Given the description of an element on the screen output the (x, y) to click on. 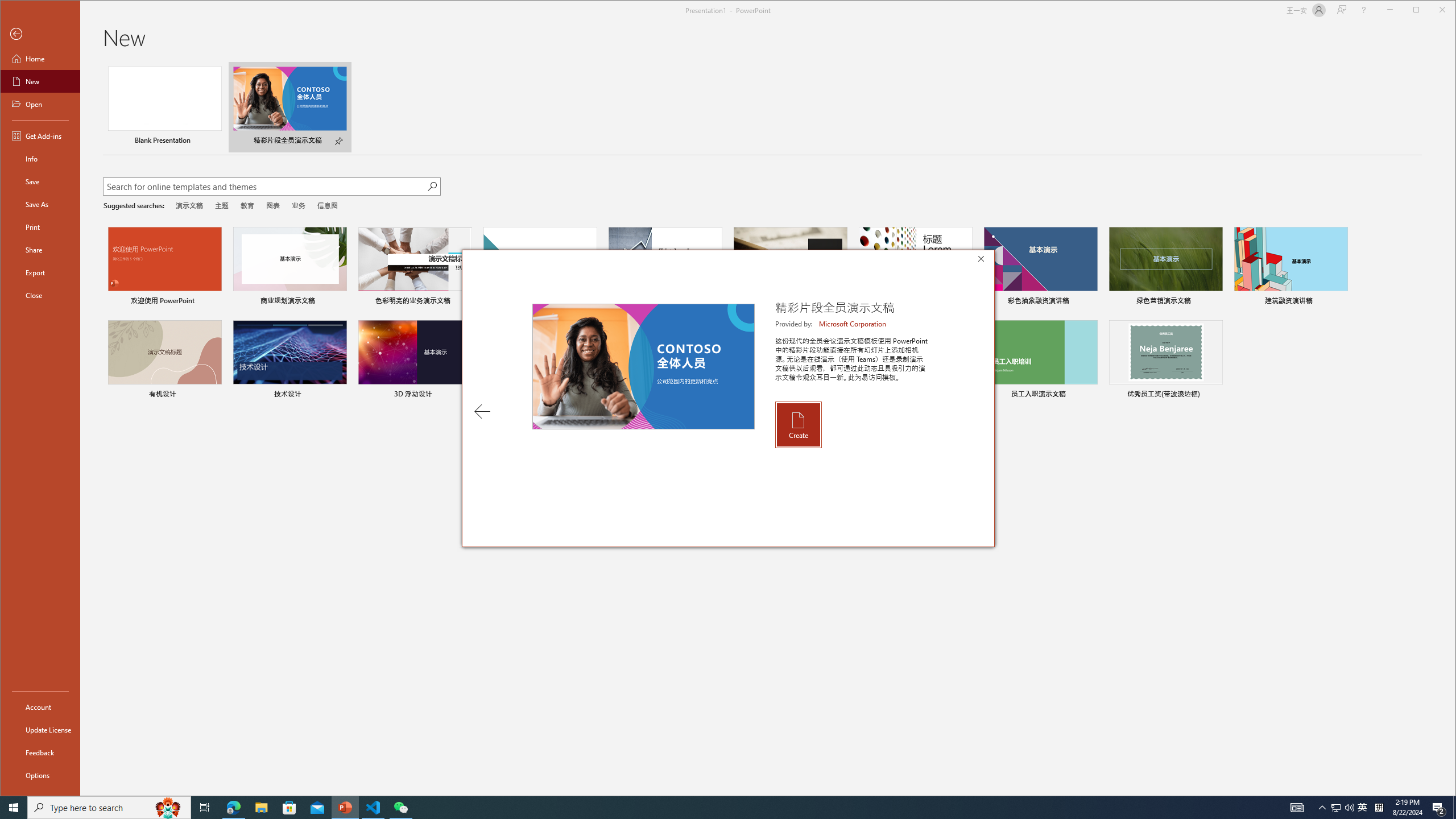
AutomationID: 4105 (1297, 807)
Feedback (40, 752)
Pin to list (1215, 395)
Blank Presentation (164, 107)
